Given the description of an element on the screen output the (x, y) to click on. 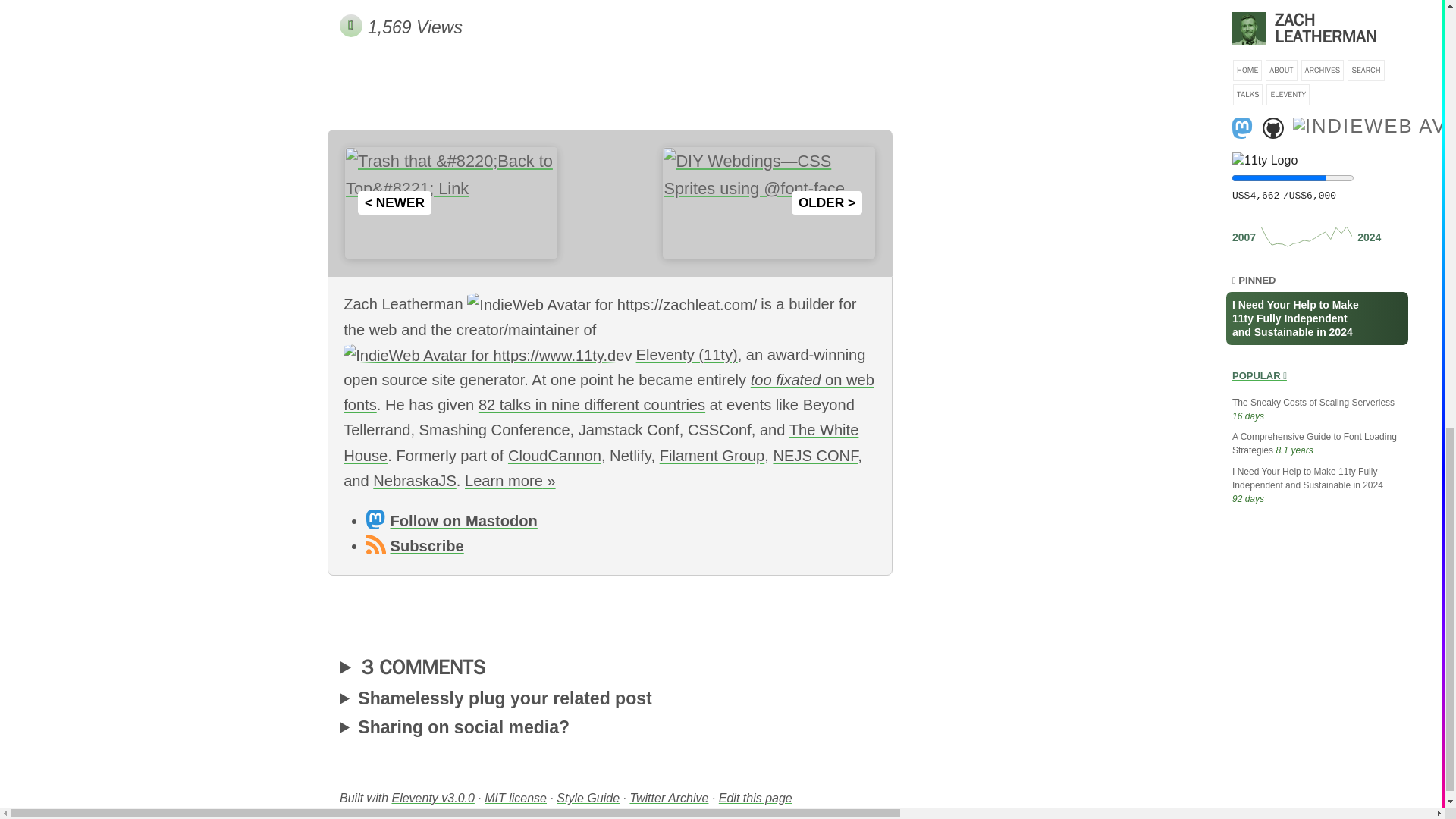
NebraskaJS (414, 480)
NEJS CONF (815, 455)
82 talks in nine different countries (591, 404)
too fixated on web fonts (609, 392)
Follow on Mastodon (451, 520)
Filament Group (712, 455)
CloudCannon (554, 455)
The White House (601, 442)
Subscribe (414, 545)
